Given the description of an element on the screen output the (x, y) to click on. 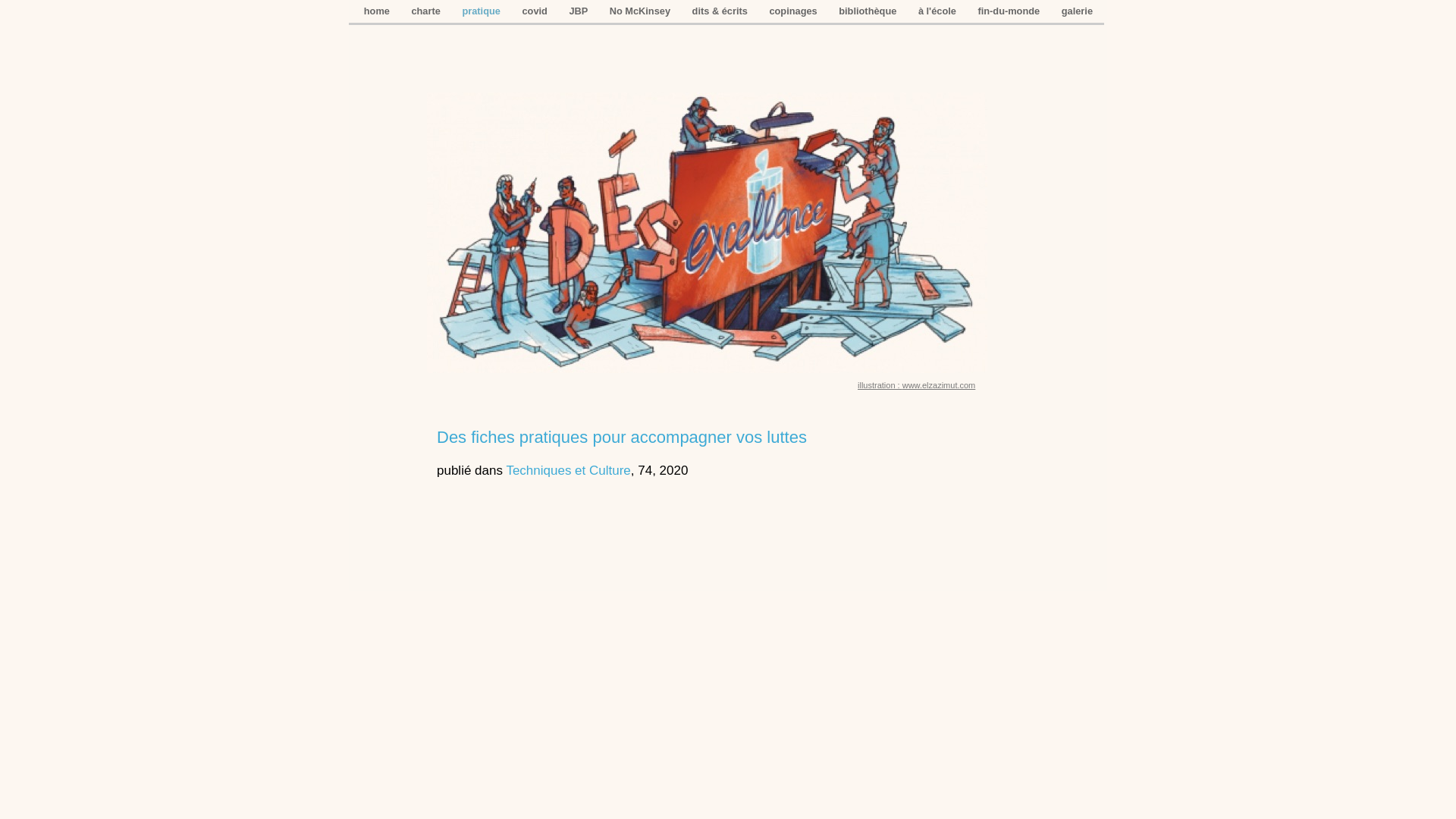
Des fiches pratiques pour accompagner vos luttes Element type: text (621, 436)
www.elzazimut.com Element type: text (938, 384)
https://tc.hypotheses.org/4587 Element type: hover (706, 368)
Techniques et Culture Element type: text (567, 470)
